Given the description of an element on the screen output the (x, y) to click on. 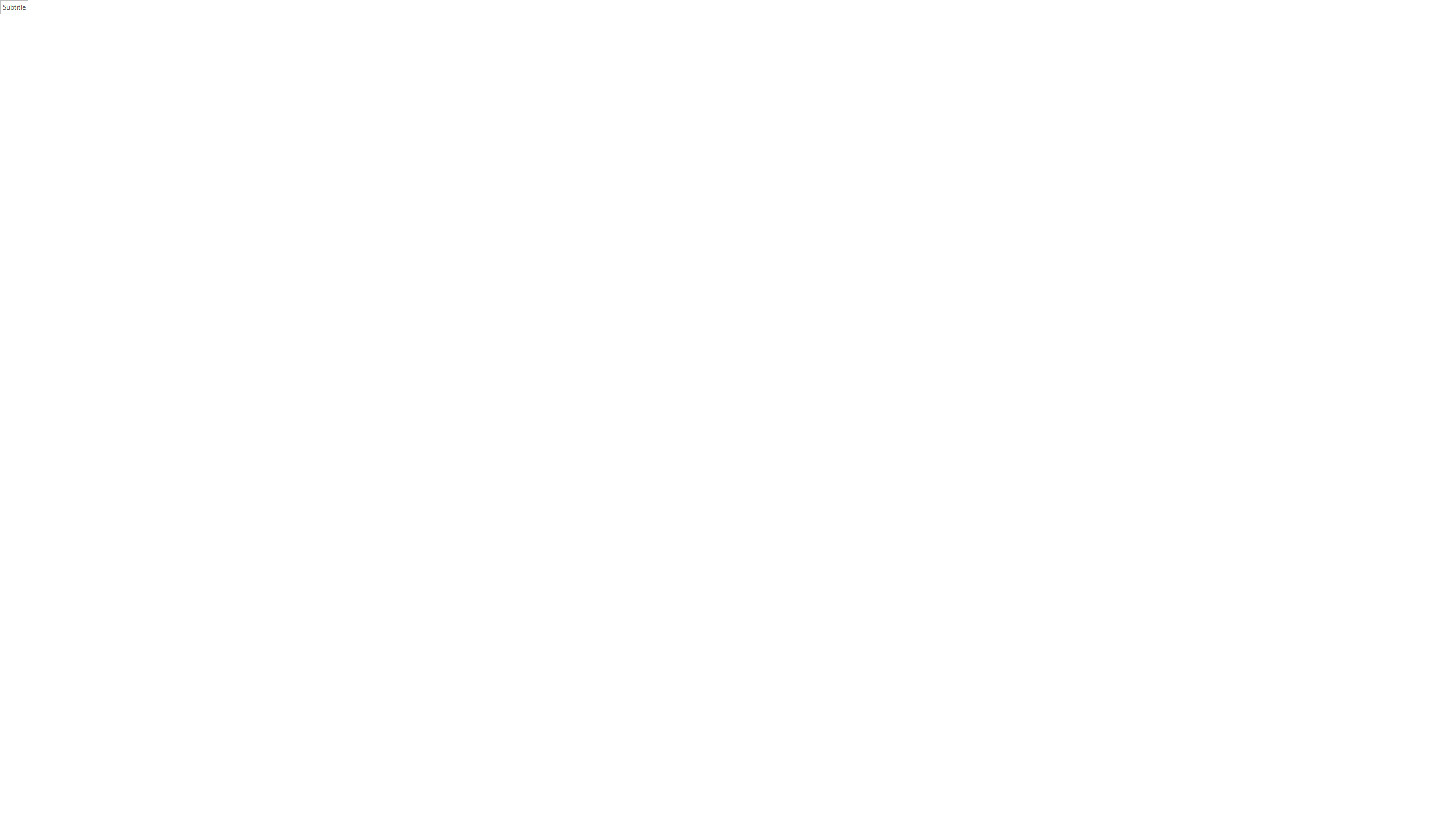
Align Right (327, 67)
Text Highlight Color (224, 67)
Undo Apply Quick Style (96, 9)
Page Number Page 1 of 1 (22, 790)
Enclose Characters... (278, 67)
Zoom (1392, 790)
Select (1157, 69)
Replace... (1156, 56)
Center (313, 67)
Font Color Red (241, 67)
Row Down (1121, 56)
